Given the description of an element on the screen output the (x, y) to click on. 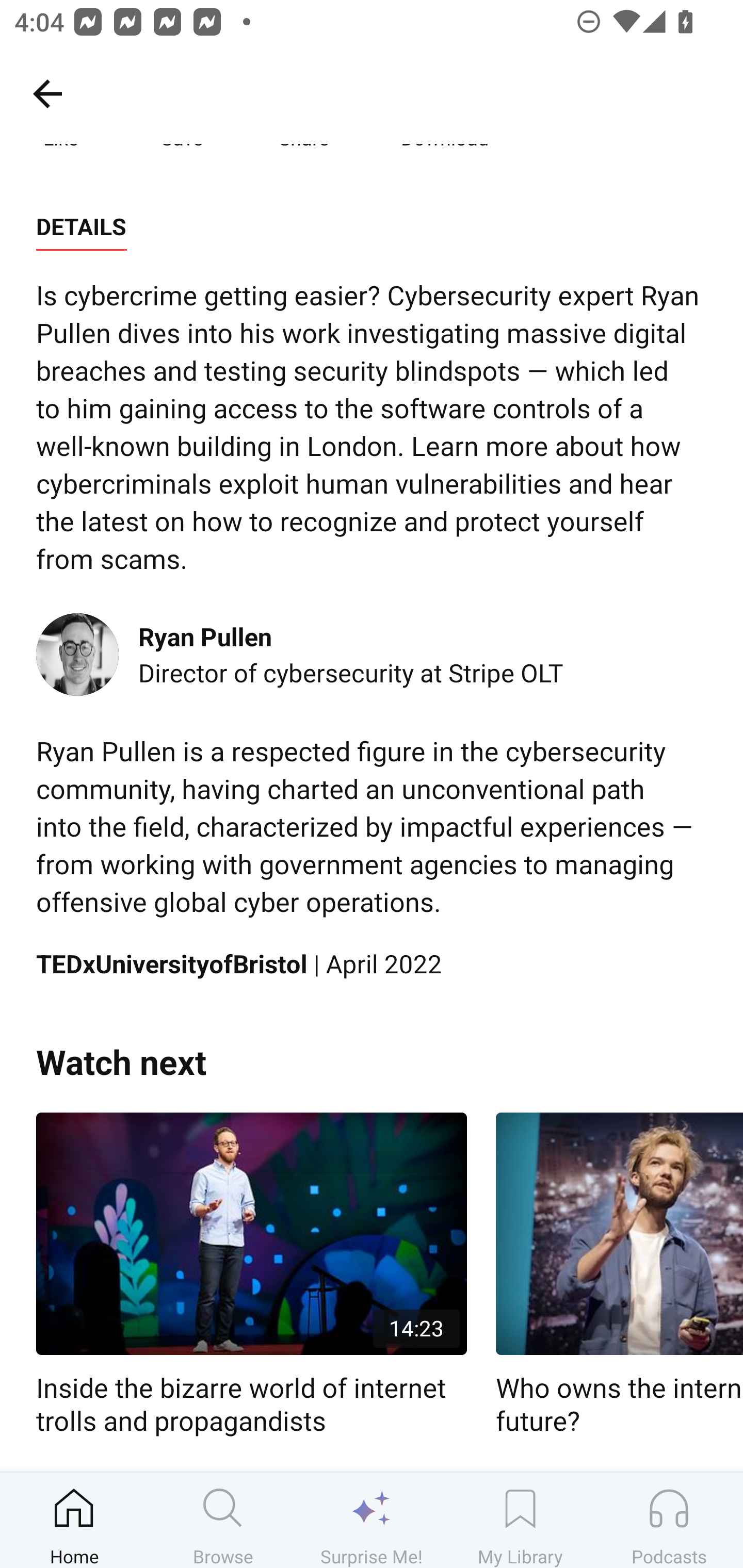
Home, back (47, 92)
DETAILS (80, 226)
Who owns the internet of the future? (619, 1275)
Home (74, 1520)
Browse (222, 1520)
Surprise Me! (371, 1520)
My Library (519, 1520)
Podcasts (668, 1520)
